Given the description of an element on the screen output the (x, y) to click on. 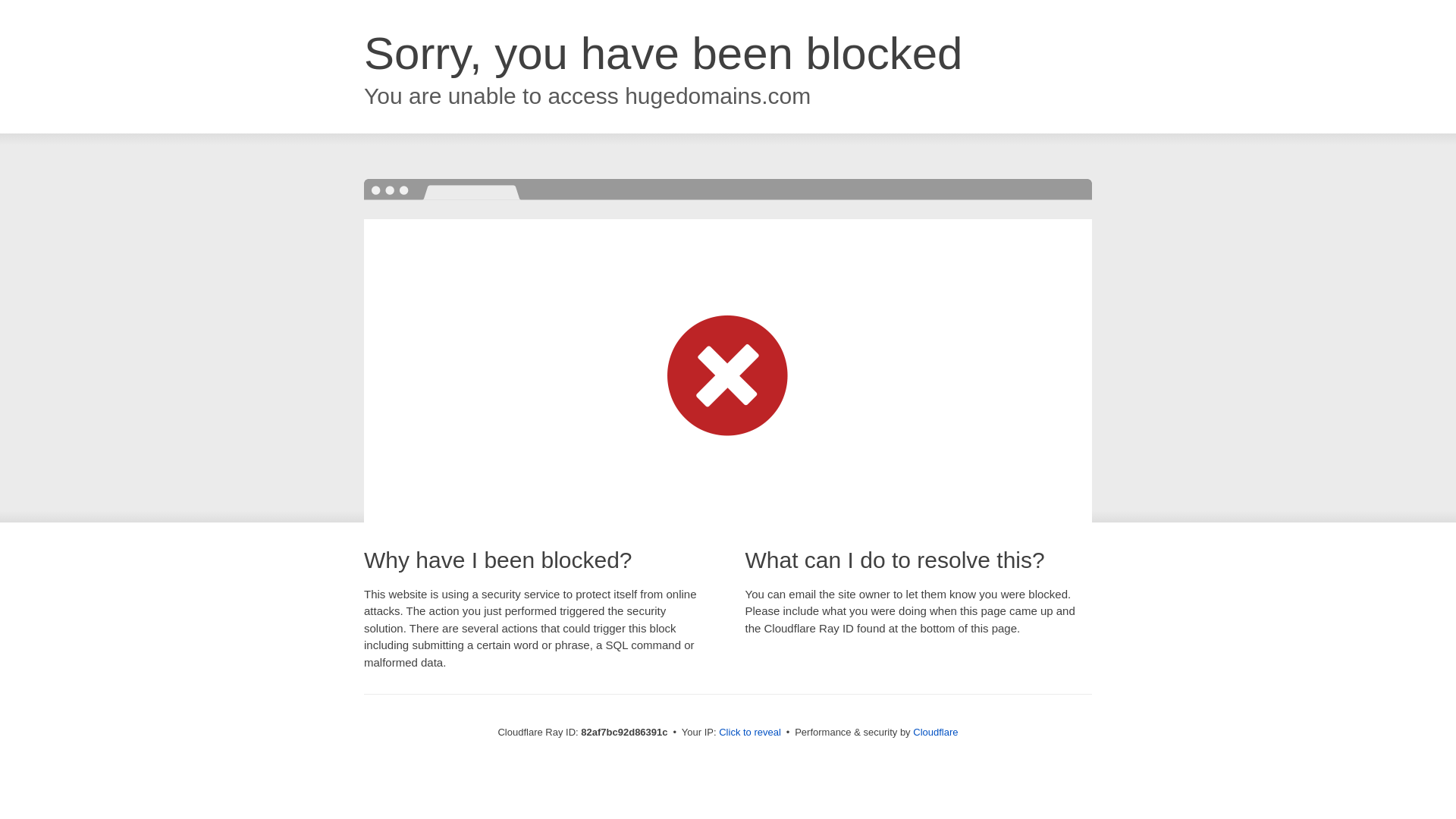
Click to reveal Element type: text (749, 732)
Cloudflare Element type: text (935, 731)
